Given the description of an element on the screen output the (x, y) to click on. 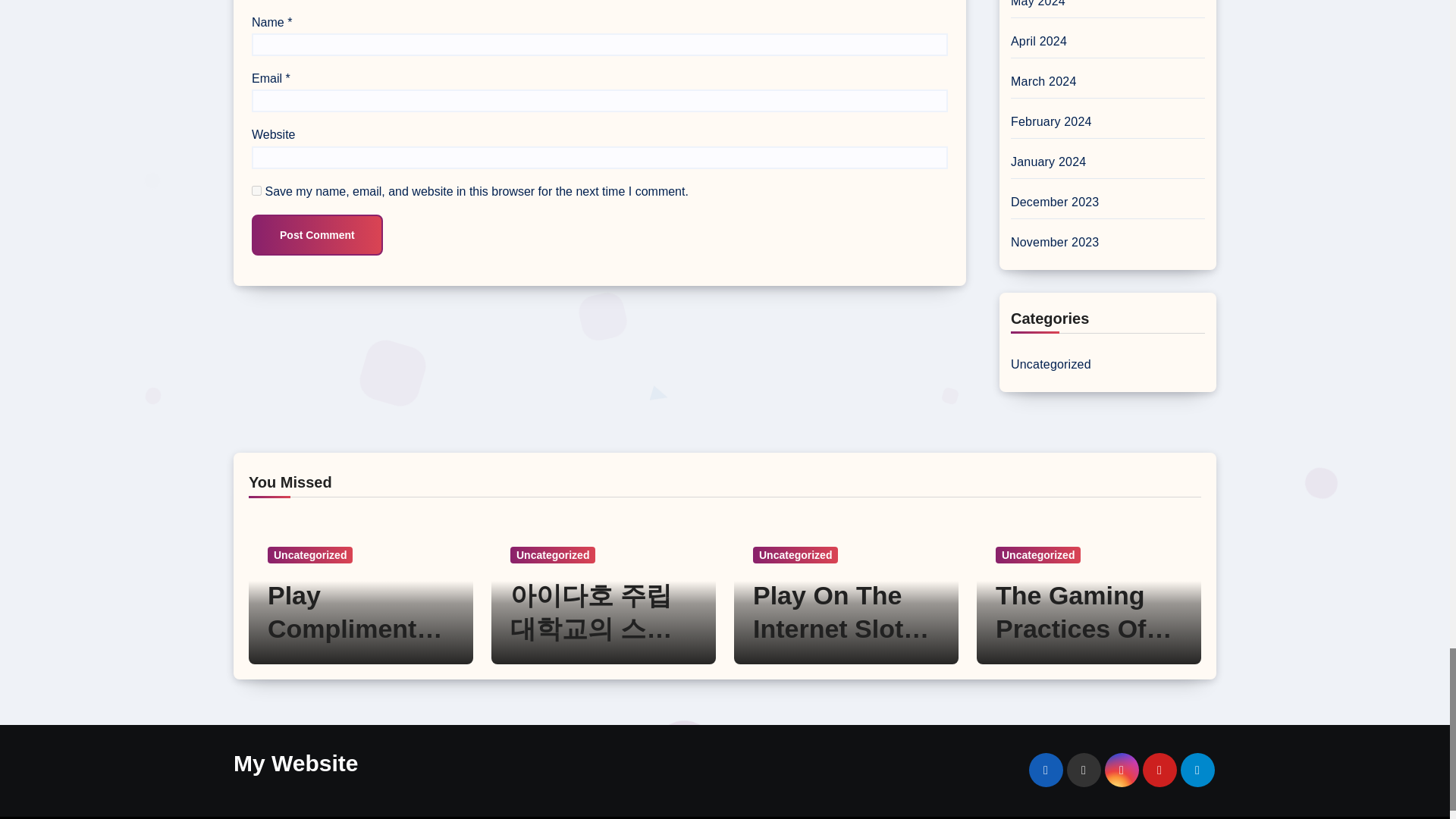
yes (256, 190)
Post Comment (316, 234)
